Given the description of an element on the screen output the (x, y) to click on. 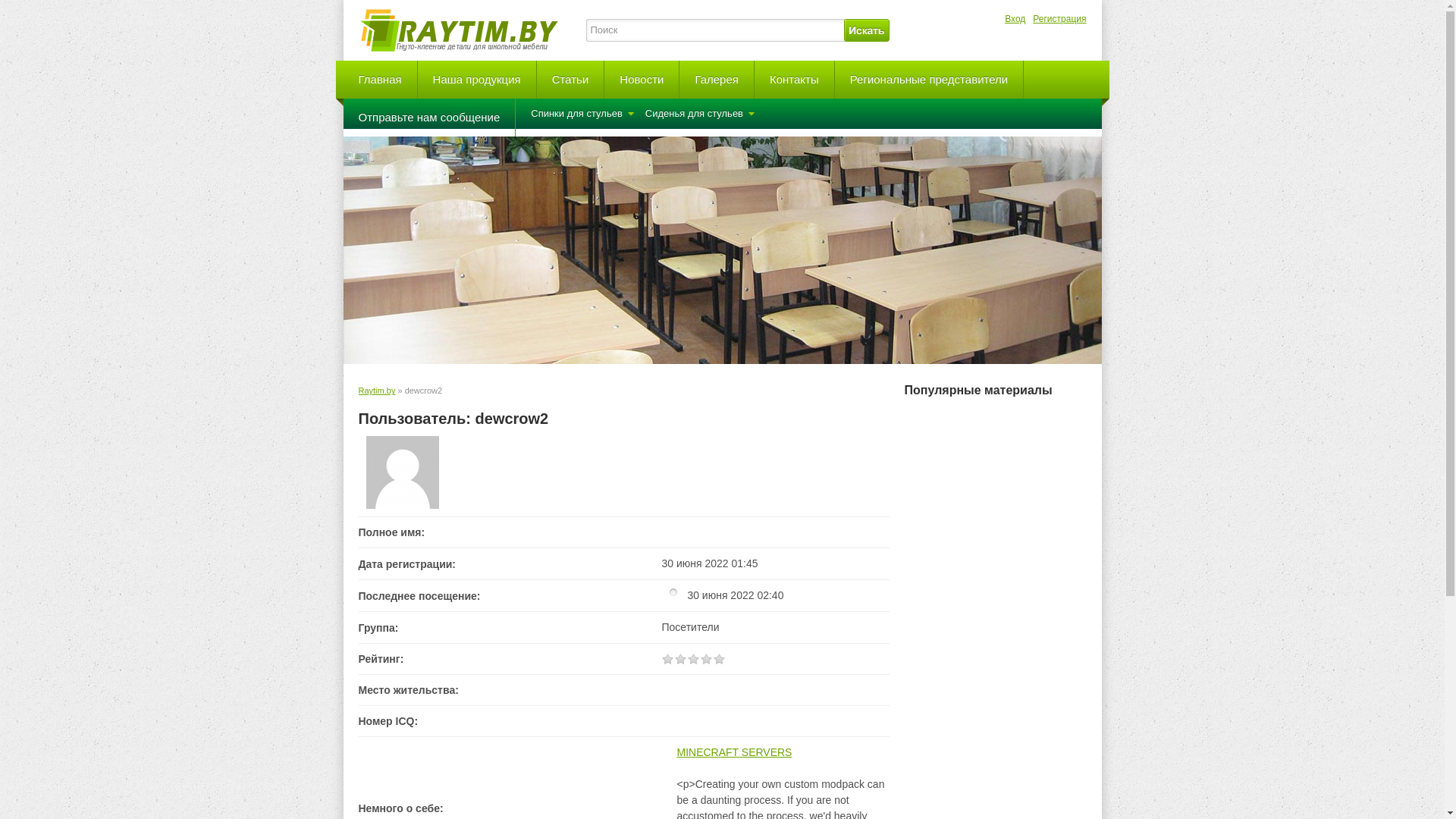
Raytim.by Element type: text (376, 390)
MINECRAFT SERVERS Element type: text (733, 752)
